Given the description of an element on the screen output the (x, y) to click on. 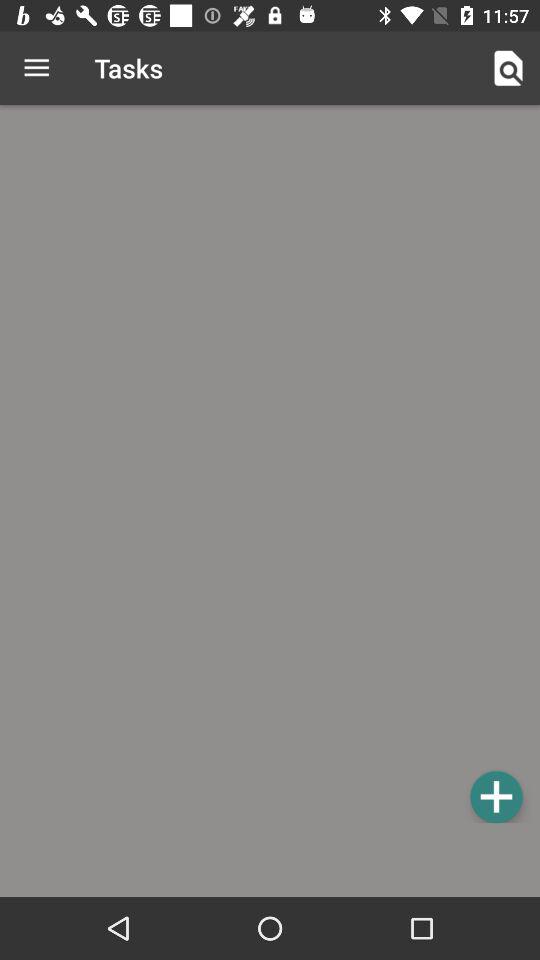
launch the icon to the left of the tasks (36, 68)
